Given the description of an element on the screen output the (x, y) to click on. 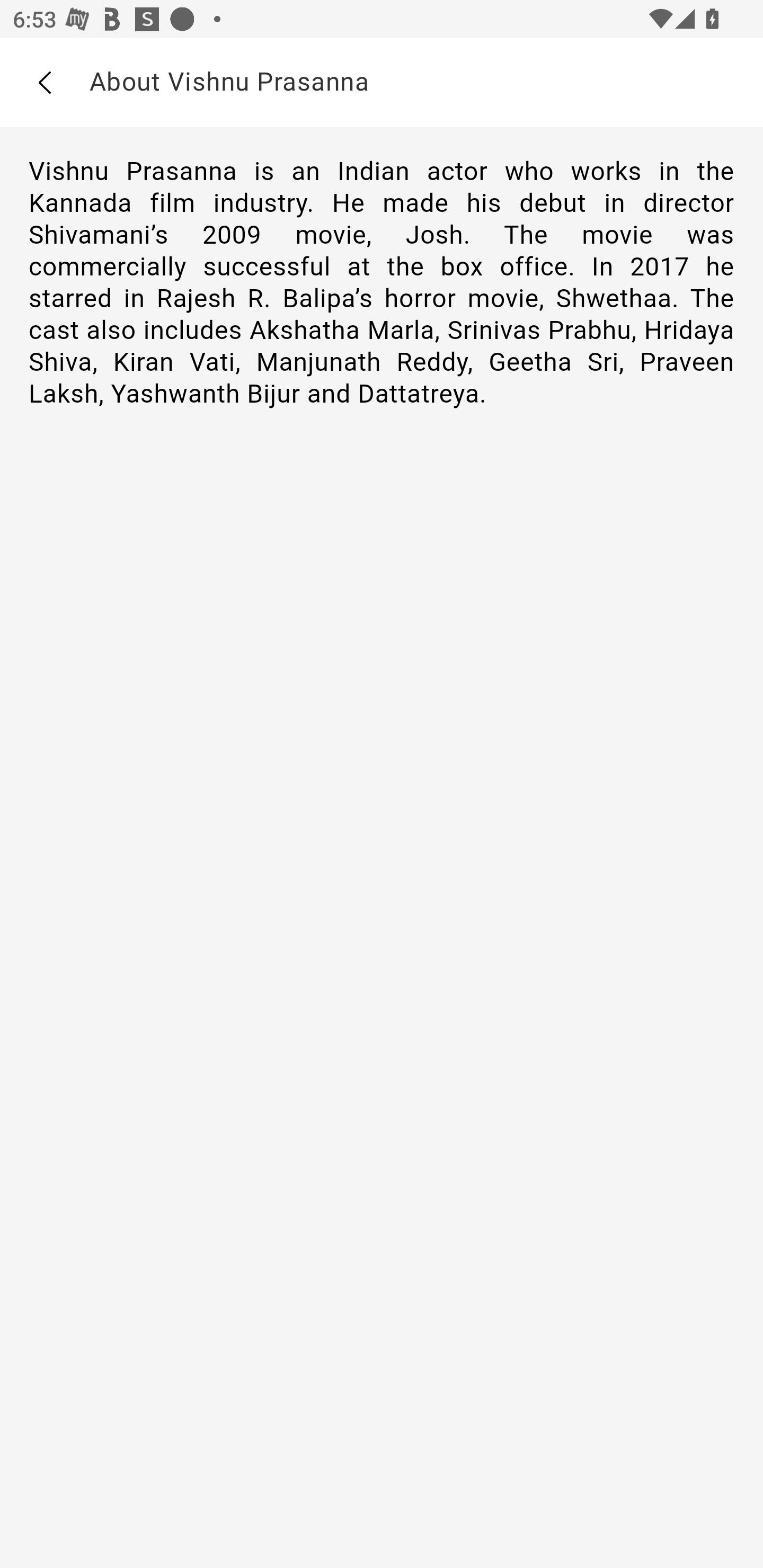
Back (44, 82)
